Given the description of an element on the screen output the (x, y) to click on. 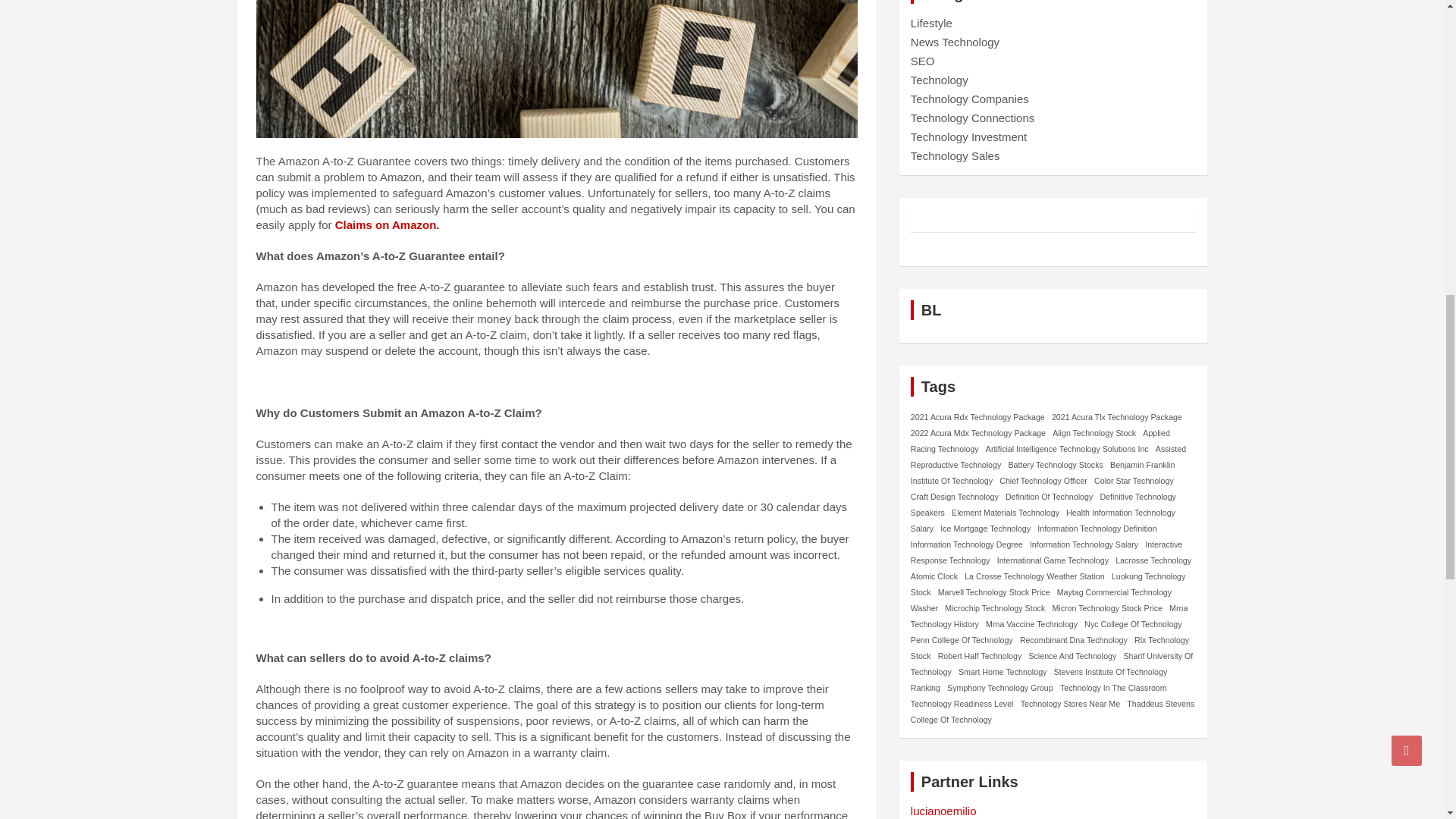
SEO (922, 60)
Technology Investment (968, 136)
Lifestyle (931, 22)
2021 Acura Rdx Technology Package (978, 416)
Technology (939, 79)
2021 Acura Tlx Technology Package (1116, 416)
Technology Companies (970, 98)
News Technology (954, 42)
Claims on Amazon. (386, 224)
Technology Sales (955, 155)
